Given the description of an element on the screen output the (x, y) to click on. 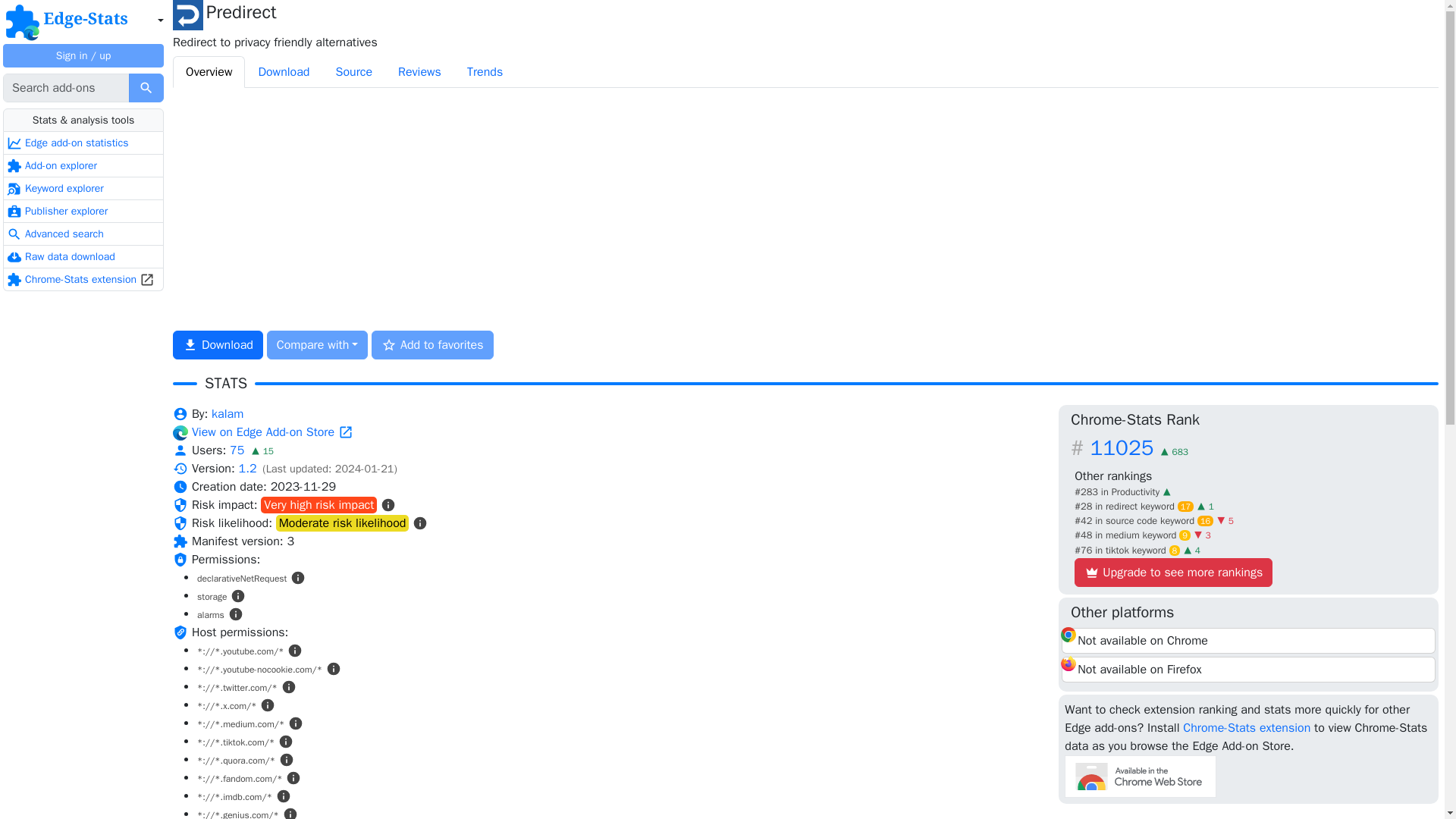
Compared to one week ago (1202, 535)
Edge add-on statistics (82, 142)
Download (282, 71)
Compared to one week ago (1205, 506)
Add-on explorer (82, 165)
Compare with (317, 344)
Download (218, 344)
Trends (484, 71)
Compared to one week ago (1224, 521)
75 (238, 450)
